Given the description of an element on the screen output the (x, y) to click on. 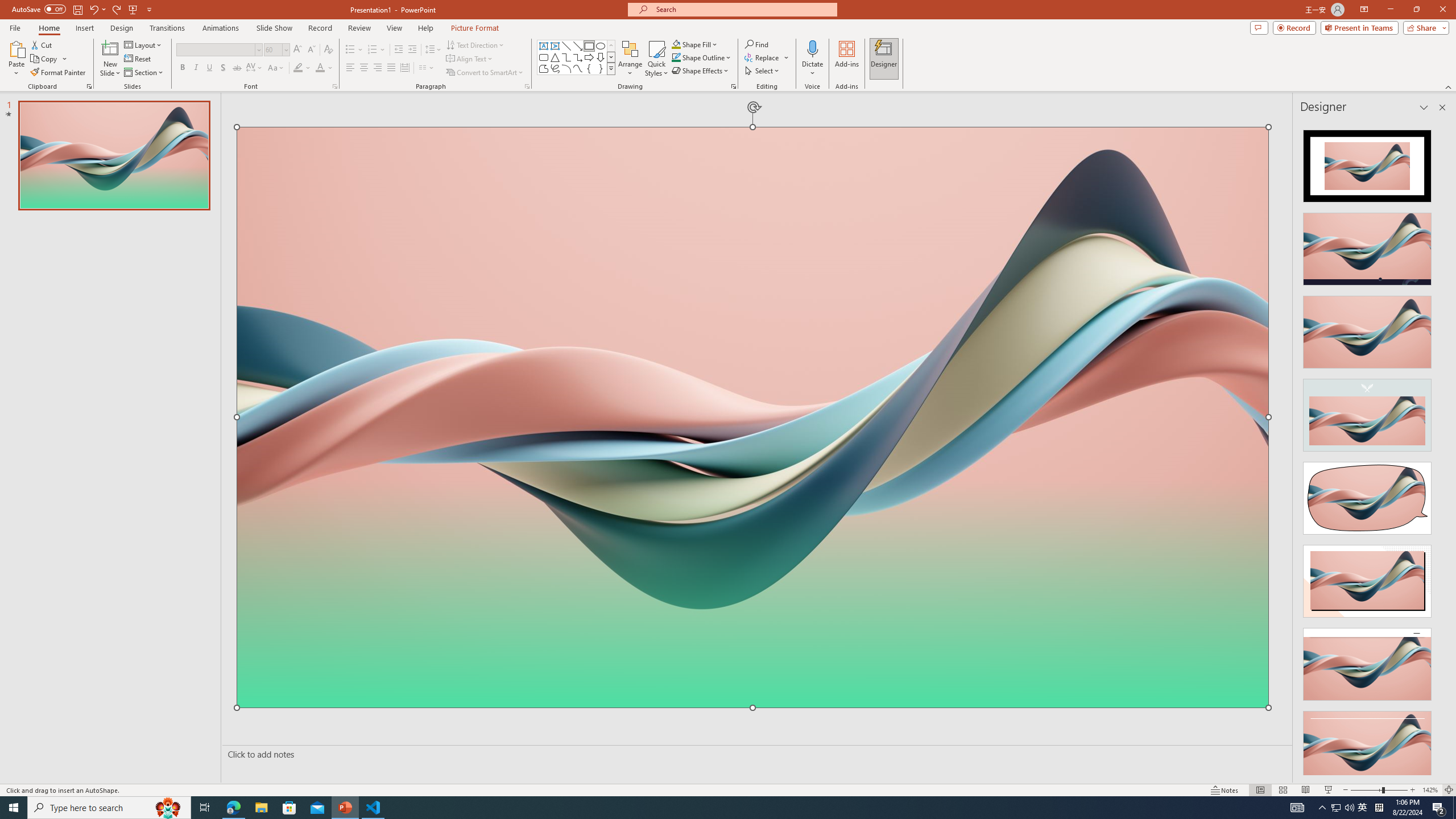
Zoom 142% (1430, 790)
